Given the description of an element on the screen output the (x, y) to click on. 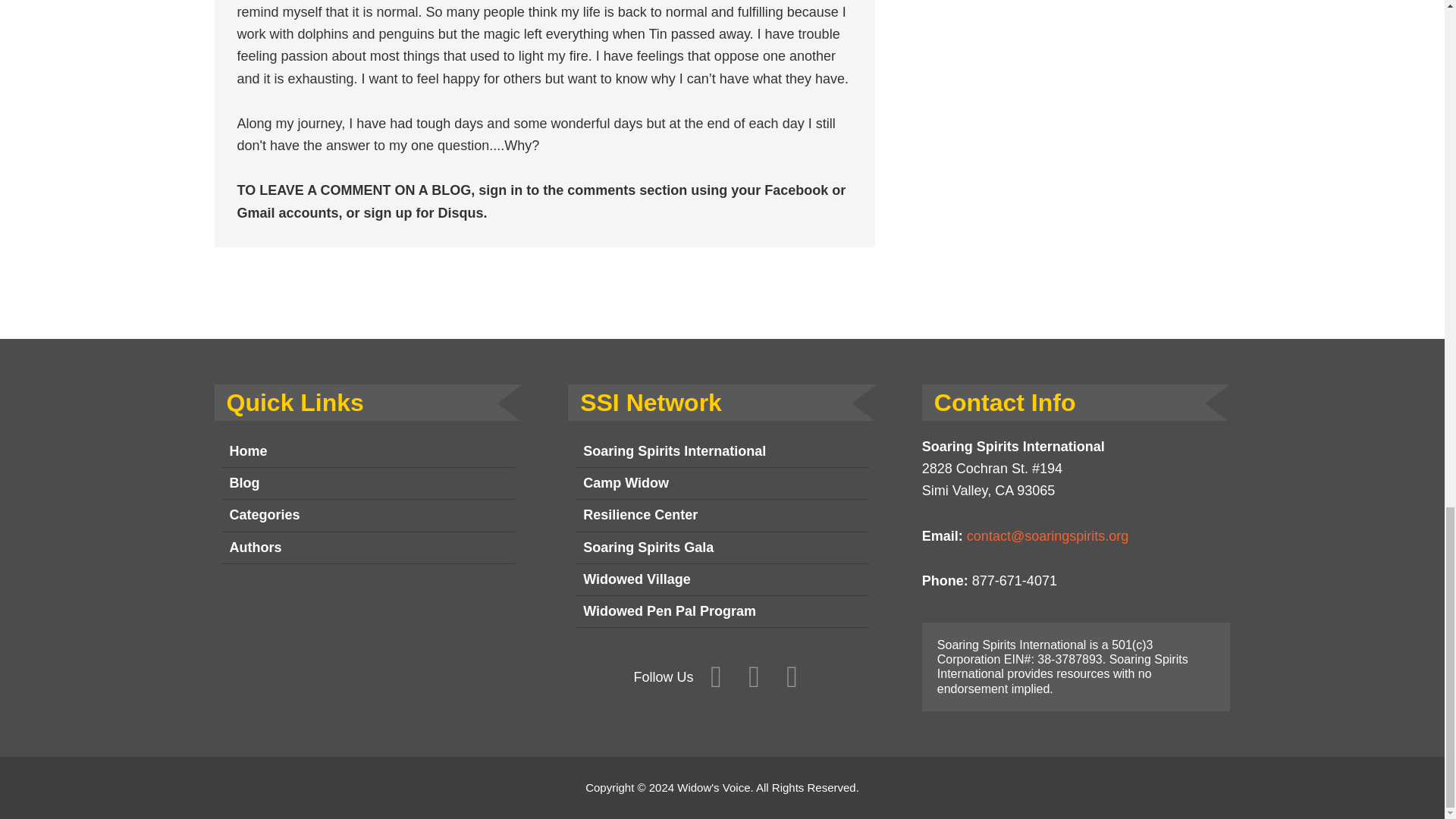
Soaring Spirits Gala (722, 548)
Soaring Spirits International (722, 451)
Camp Widow (722, 483)
Resilience Center (722, 515)
Facebook (716, 677)
Instagram (754, 677)
Widowed Village (722, 580)
Authors (368, 548)
Widowed Pen Pal Program (722, 612)
YouTube (791, 677)
Blog (368, 483)
Home (368, 451)
Categories (368, 515)
